Given the description of an element on the screen output the (x, y) to click on. 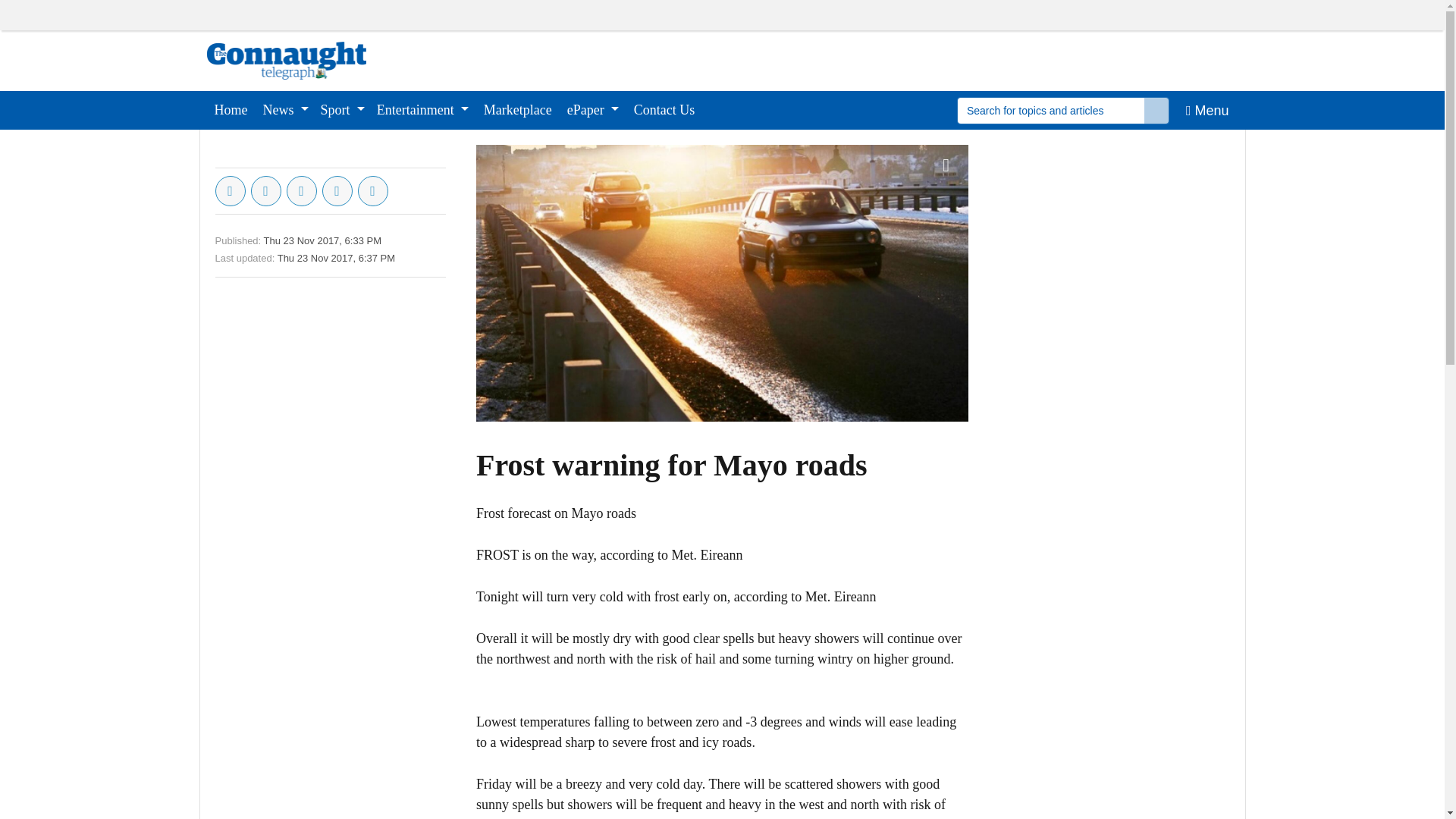
Menu (1207, 109)
ePaper (592, 109)
Entertainment (422, 109)
Sport (342, 109)
News (285, 109)
